Given the description of an element on the screen output the (x, y) to click on. 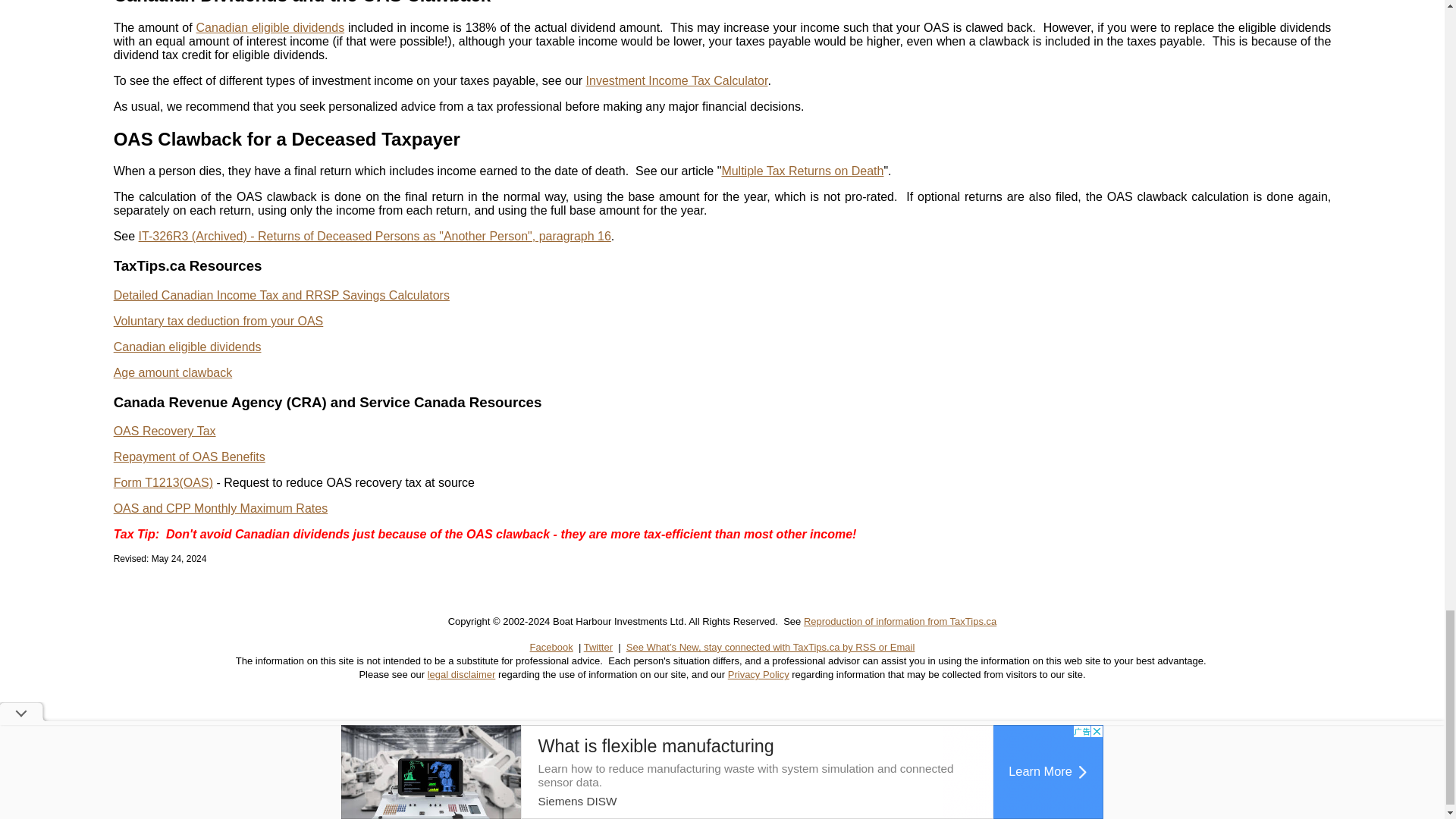
Voluntary tax deduction from your OAS (218, 320)
Canadian eligible dividends (270, 27)
Investment Income Tax Calculator (677, 80)
Detailed Canadian Income Tax and RRSP Savings Calculators (281, 295)
Multiple Tax Returns on Death (801, 170)
Age amount clawback (172, 372)
Canadian eligible dividends (187, 346)
